Given the description of an element on the screen output the (x, y) to click on. 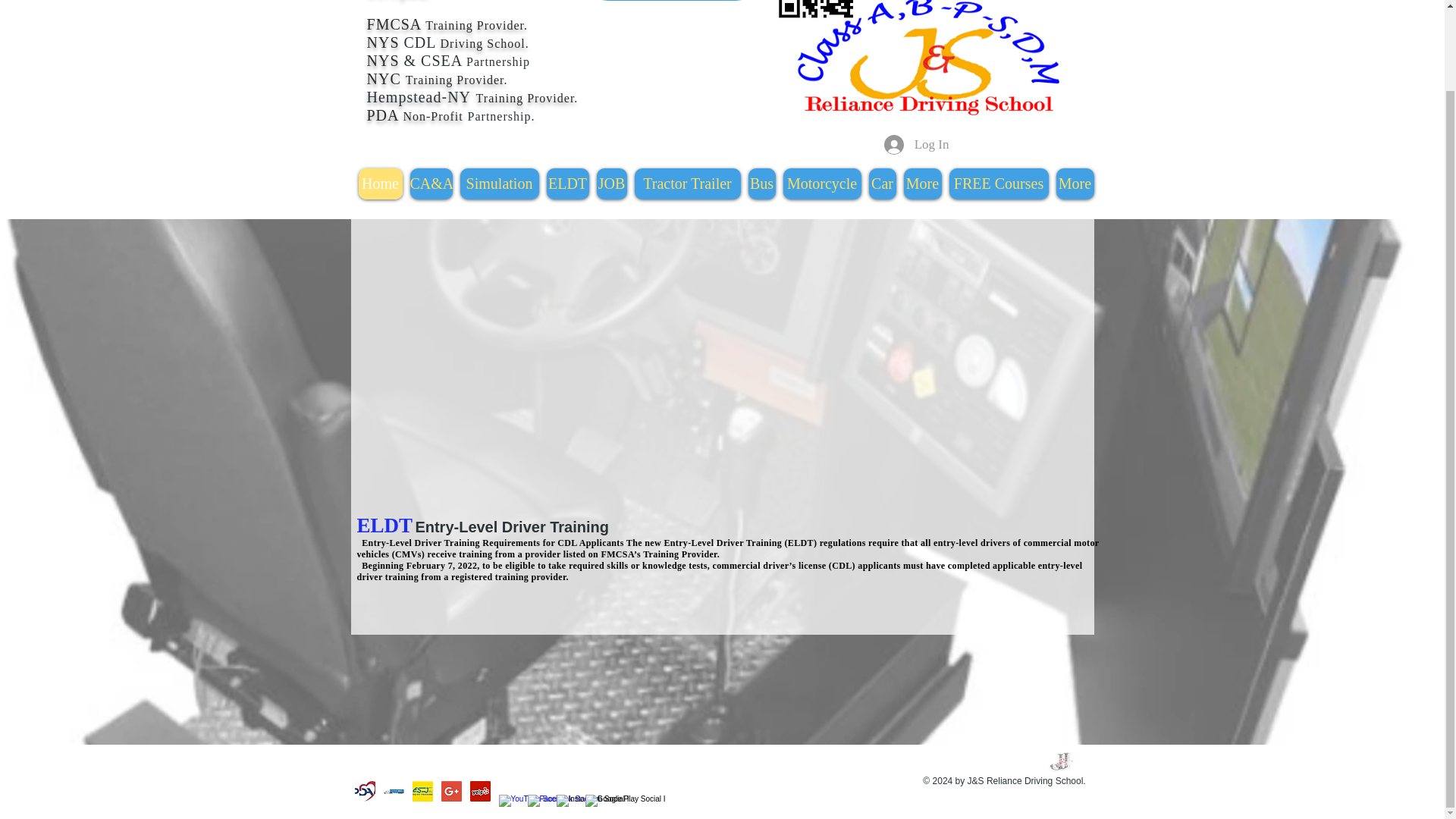
Tractor Trailer (686, 183)
FREE Courses (998, 183)
ELDT (567, 183)
More (923, 183)
Home (379, 183)
Log In (916, 144)
JOB (610, 183)
Motorcycle (821, 183)
Simulation (499, 183)
